Given the description of an element on the screen output the (x, y) to click on. 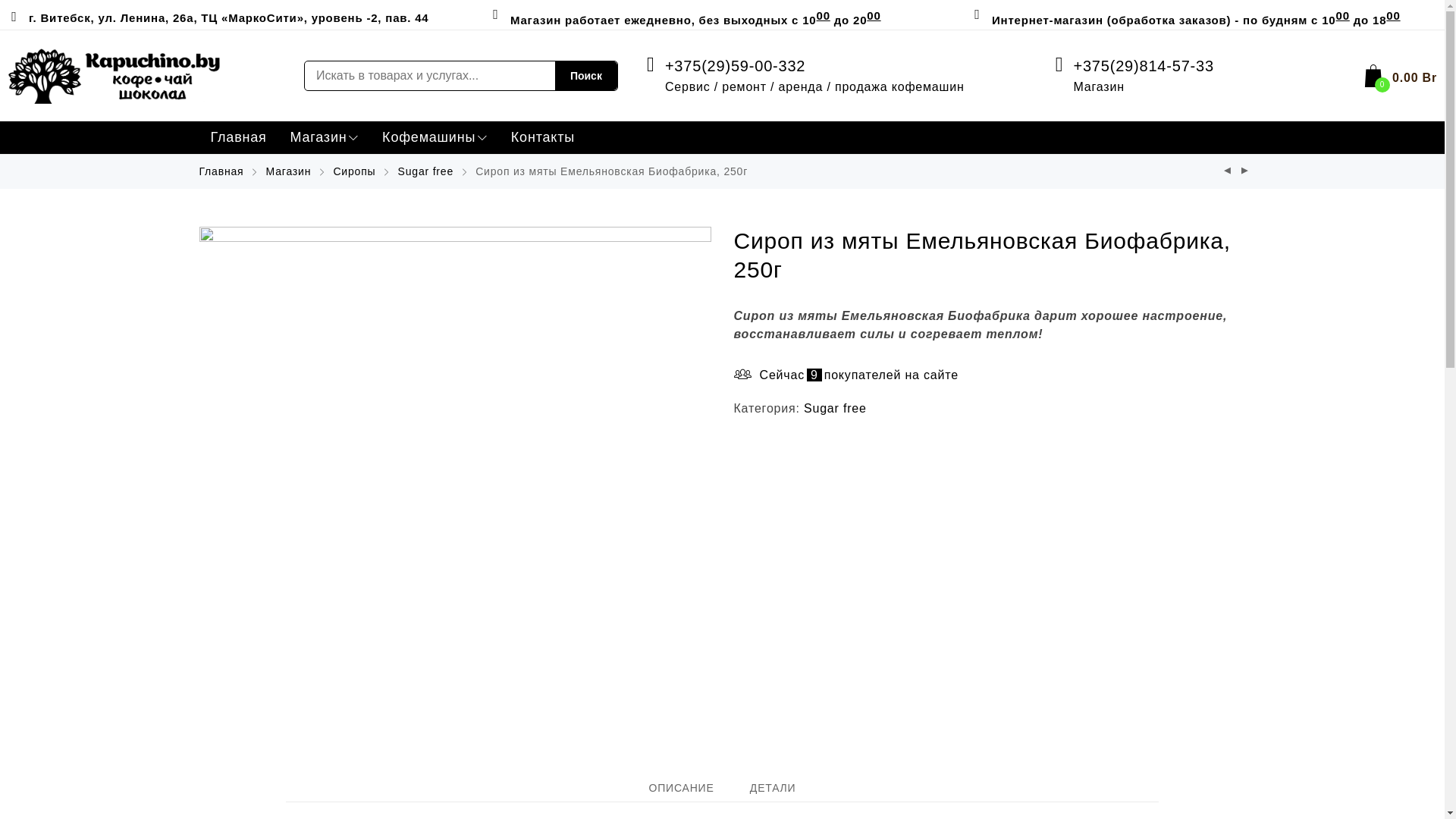
Sugar free Element type: text (834, 407)
IMG_3456 Element type: hover (454, 482)
Sugar free Element type: text (425, 171)
+375(29)59-00-332 Element type: text (735, 65)
+375(29)814-57-33 Element type: text (1143, 65)
